Given the description of an element on the screen output the (x, y) to click on. 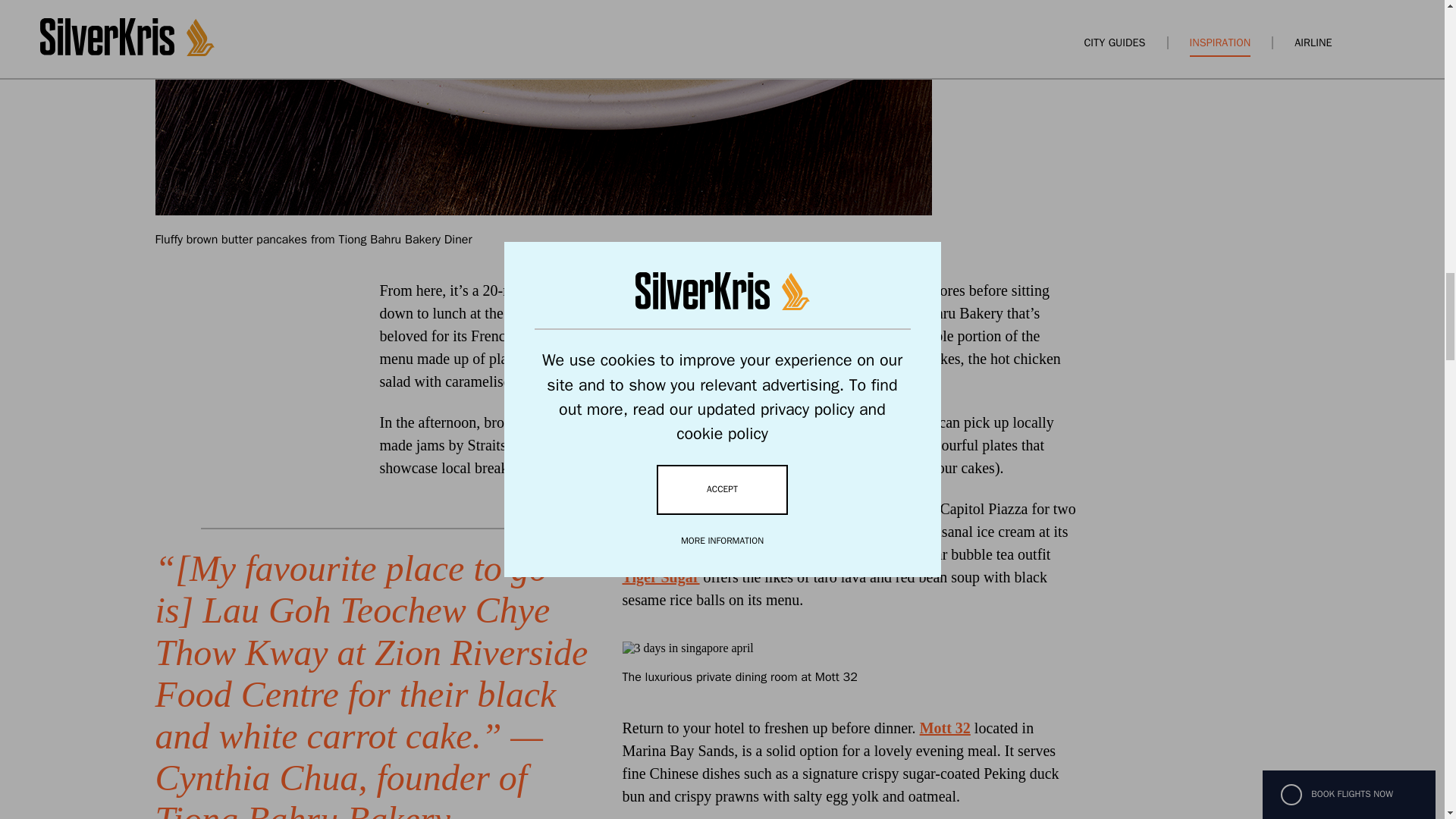
Mott 32 (945, 727)
Tiong Bahru Bakery Diner (622, 312)
Tiger Sugar (659, 576)
The Farm Store (582, 422)
